Given the description of an element on the screen output the (x, y) to click on. 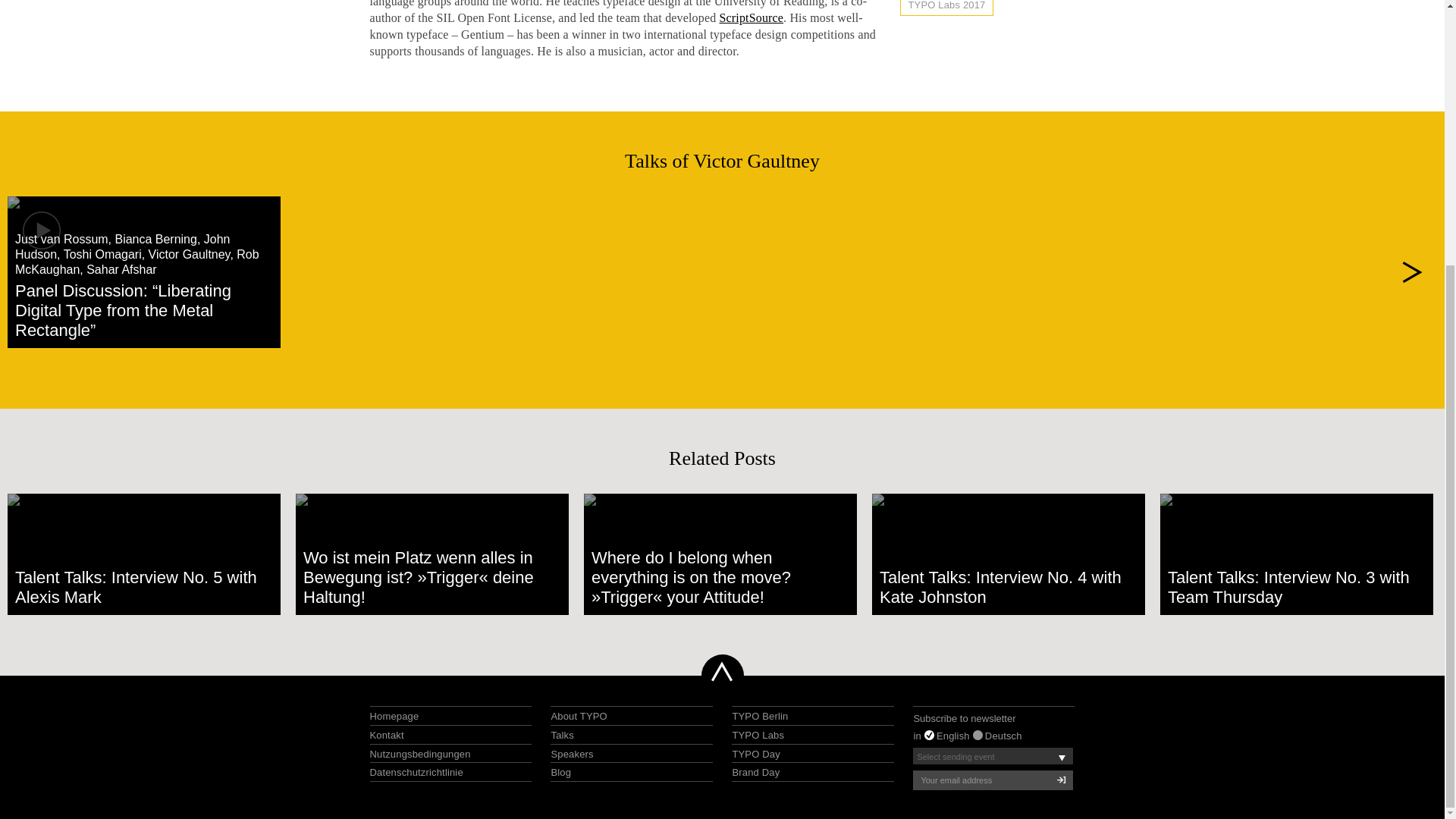
TYPO Labs 2017 (946, 6)
ScriptSource (751, 17)
International design experts speaking on design conferences (571, 754)
TYPO International Design Conference in Berlin, Germany (759, 715)
Kontakt zum TYPO Management (386, 735)
